Given the description of an element on the screen output the (x, y) to click on. 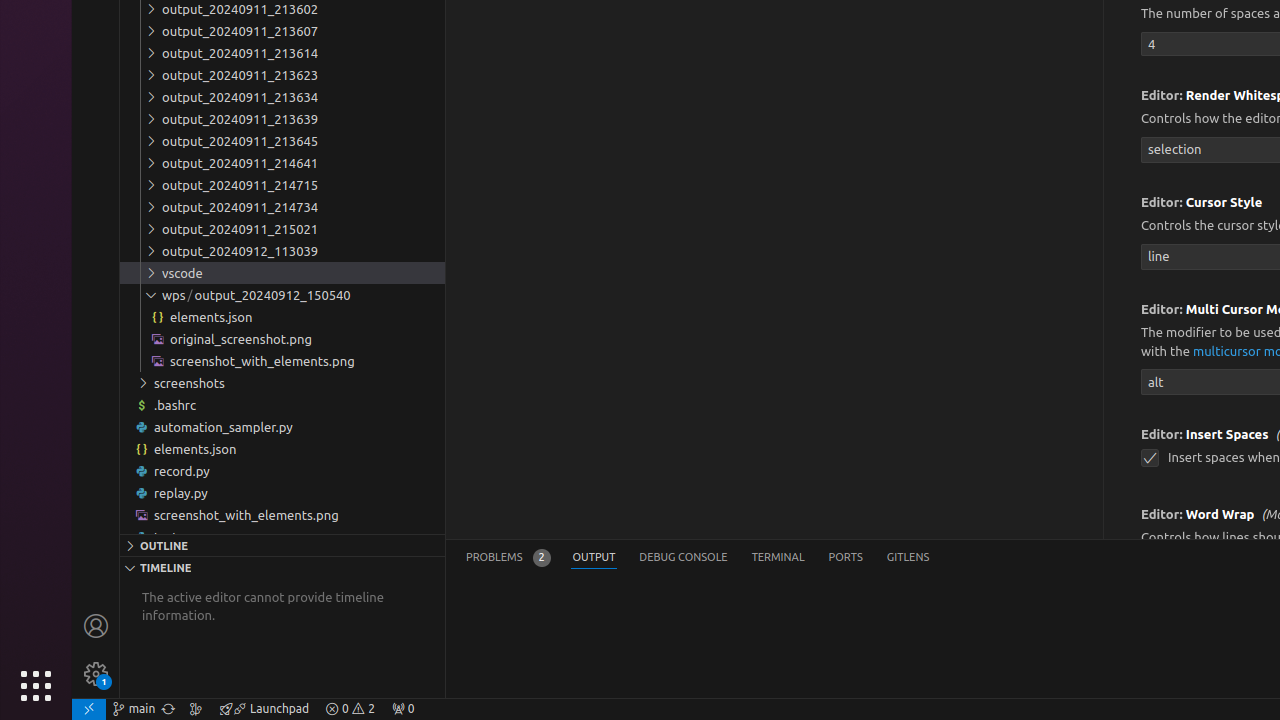
Warnings: 2 Element type: push-button (350, 709)
original_screenshot.png Element type: tree-item (282, 339)
screenshot_with_elements.png Element type: tree-item (282, 514)
replay.py Element type: tree-item (282, 492)
automation_sampler.py Element type: tree-item (282, 426)
